Given the description of an element on the screen output the (x, y) to click on. 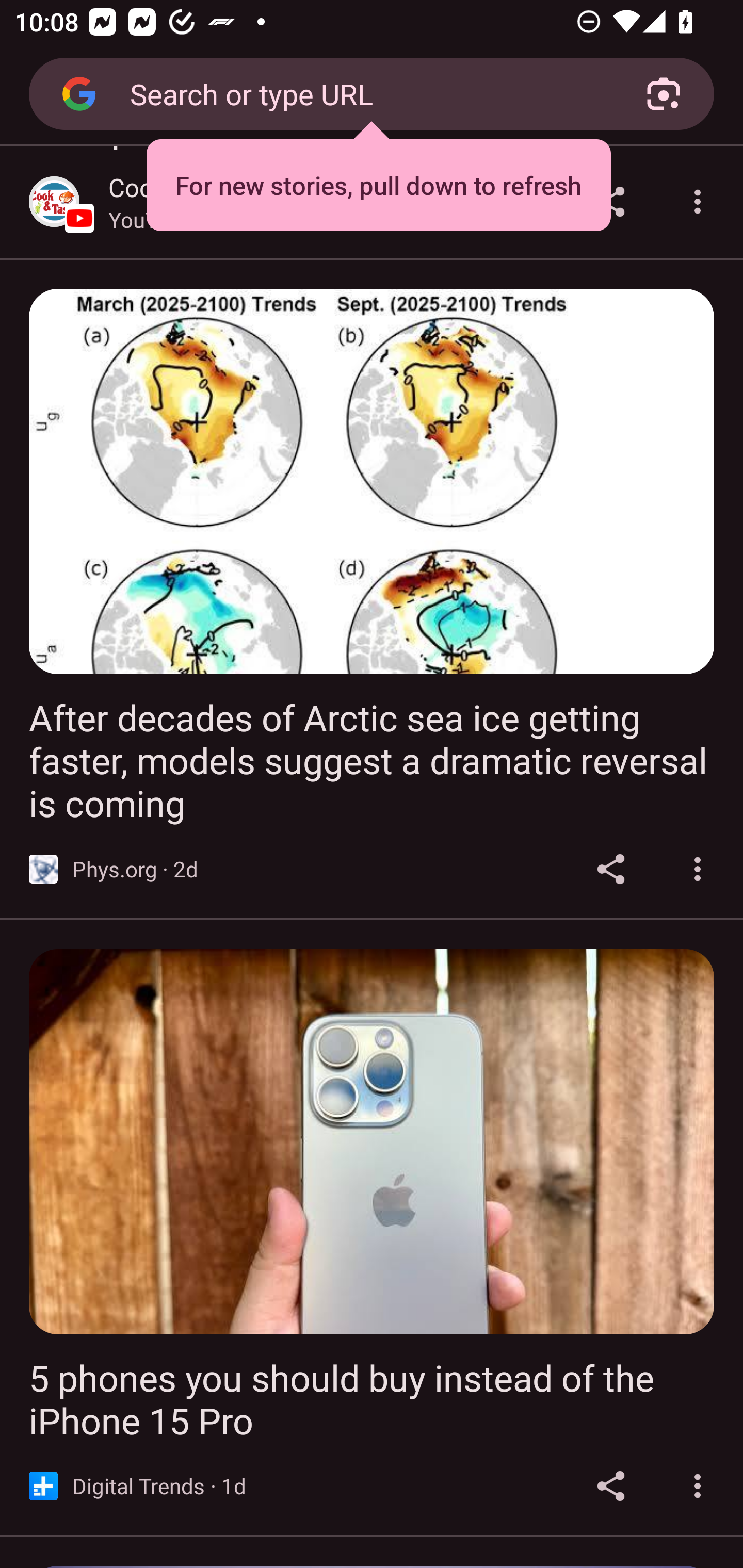
Search with your camera using Google Lens (663, 93)
Search or type URL (364, 92)
